Given the description of an element on the screen output the (x, y) to click on. 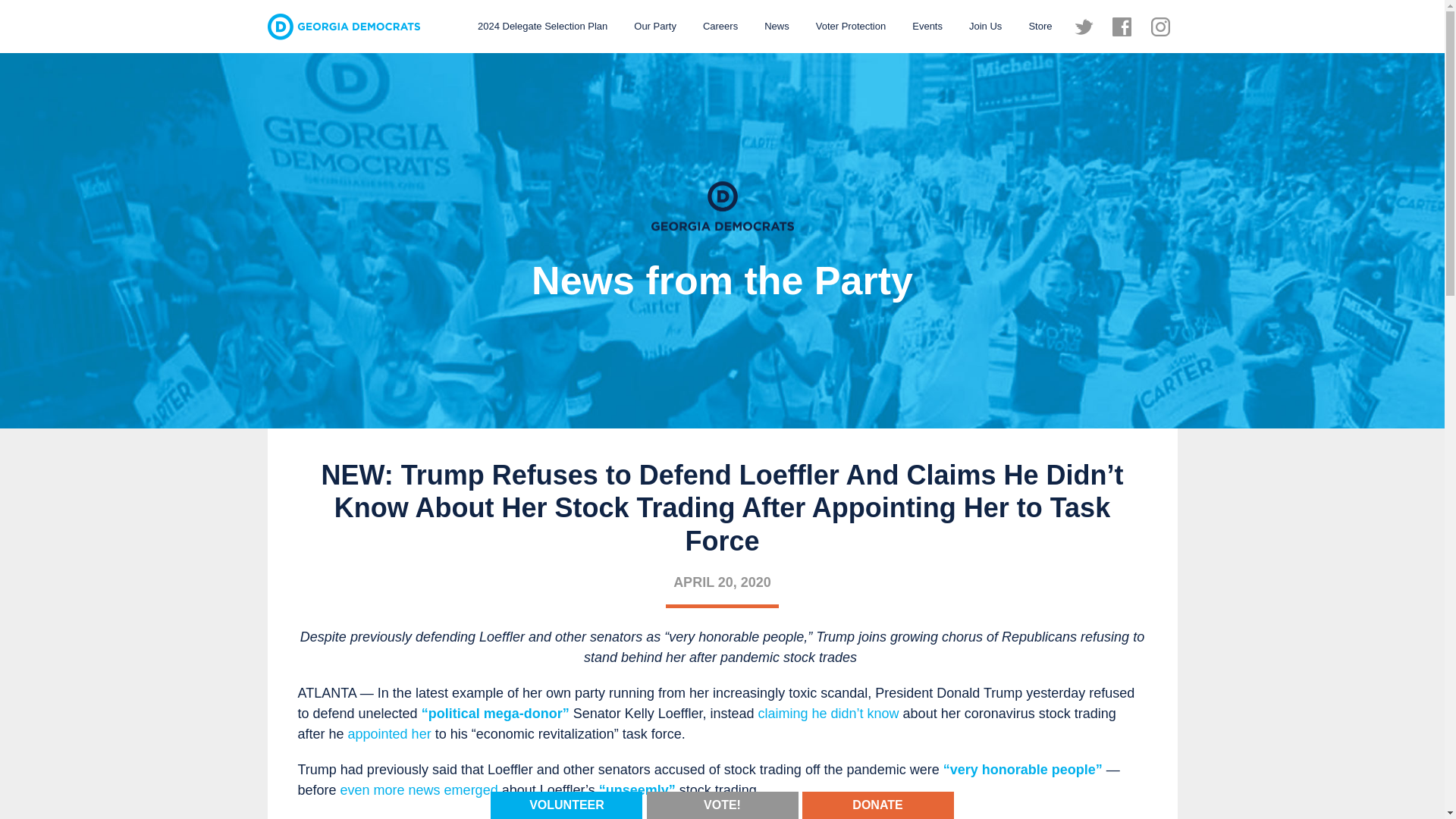
Our Party (655, 25)
News (776, 25)
2024 Delegate Selection Plan (541, 25)
even more news emerged (418, 789)
Careers (720, 25)
Store (1039, 25)
Join Us (985, 25)
Events (927, 25)
DEMOCRATIC PARTY OF GEORGIA (342, 26)
appointed her (388, 734)
Voter Protection (851, 25)
